Given the description of an element on the screen output the (x, y) to click on. 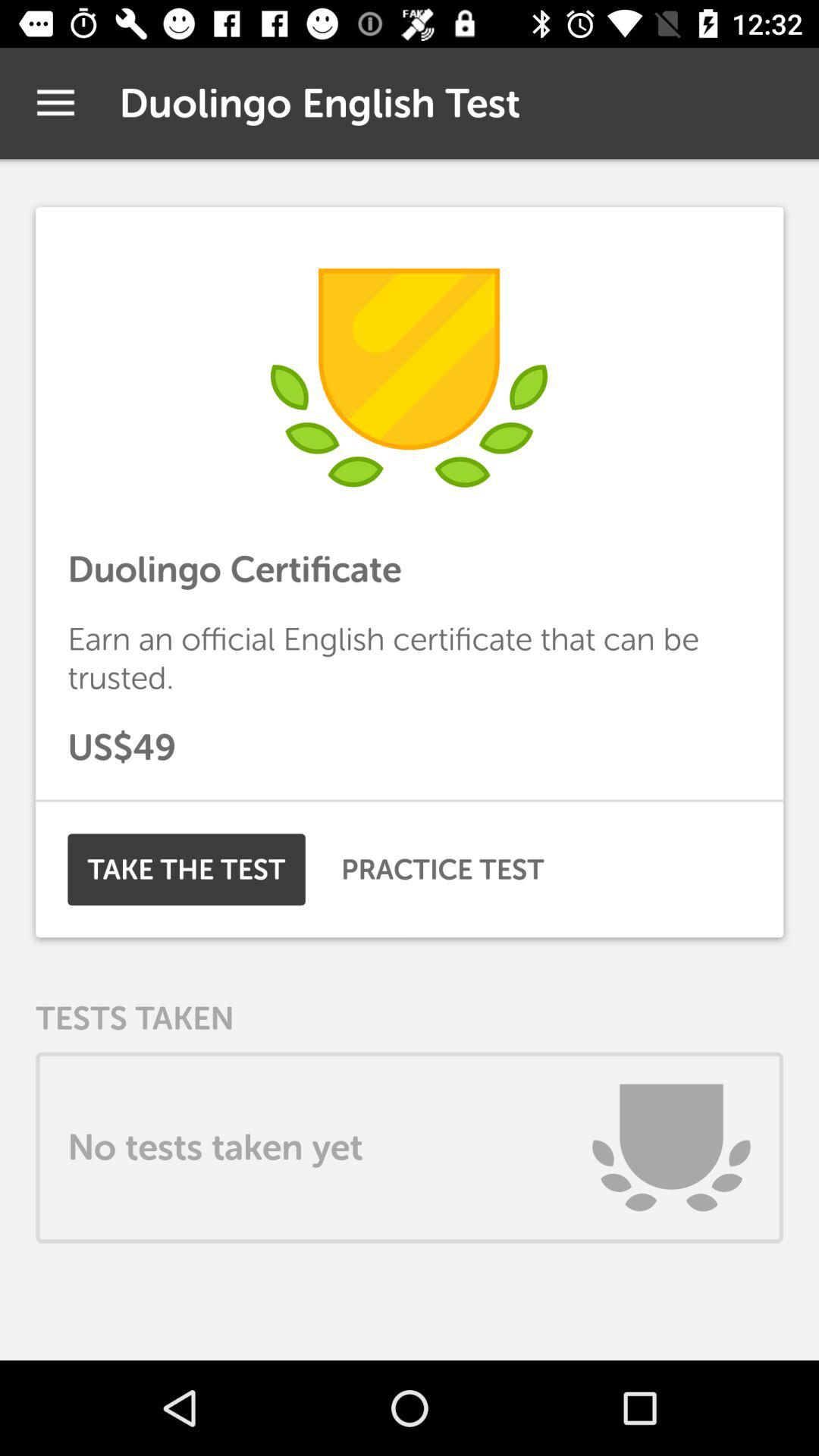
jump until us$49 (409, 747)
